Given the description of an element on the screen output the (x, y) to click on. 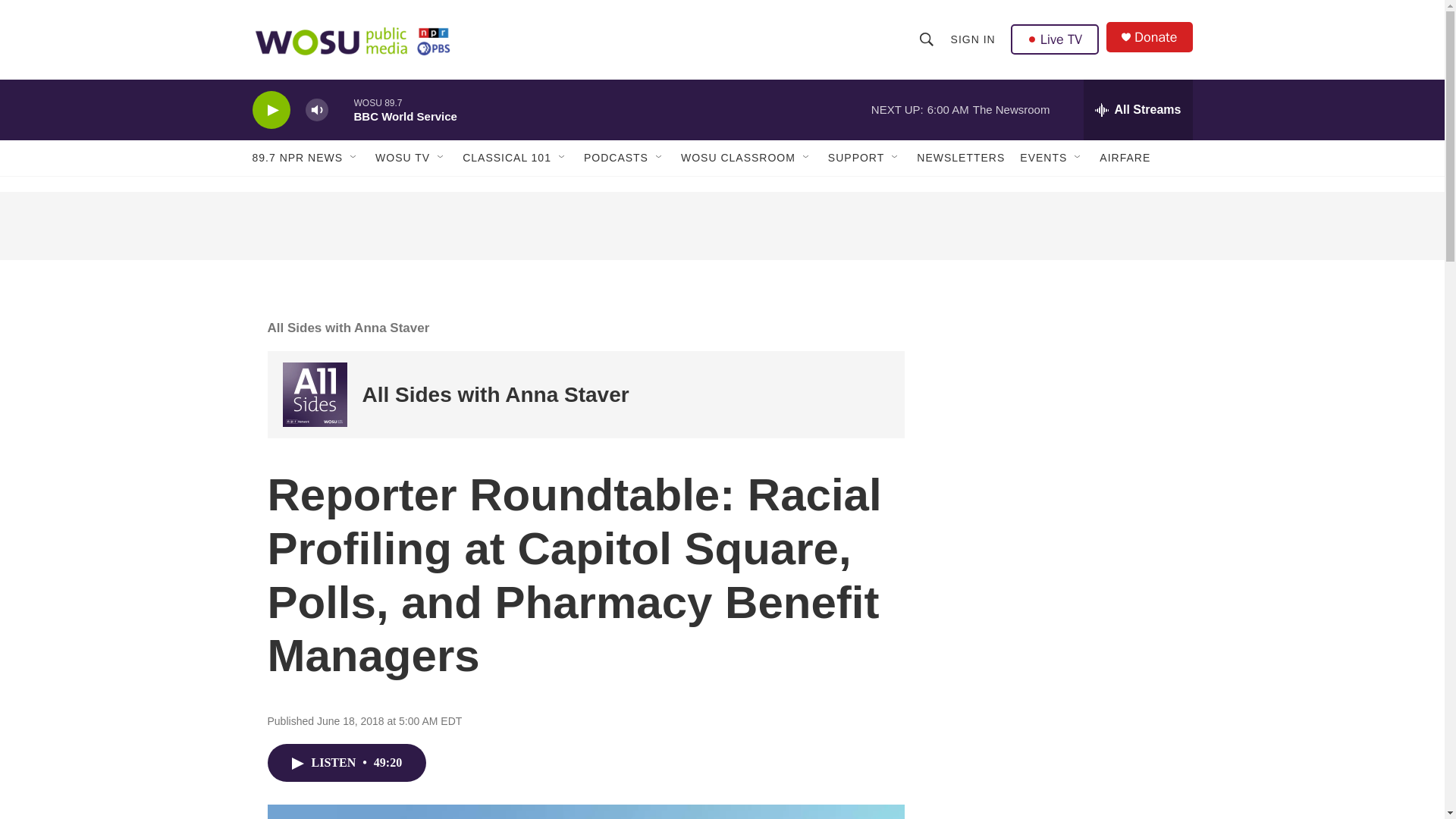
3rd party ad content (1062, 619)
3rd party ad content (721, 225)
3rd party ad content (1062, 400)
